Given the description of an element on the screen output the (x, y) to click on. 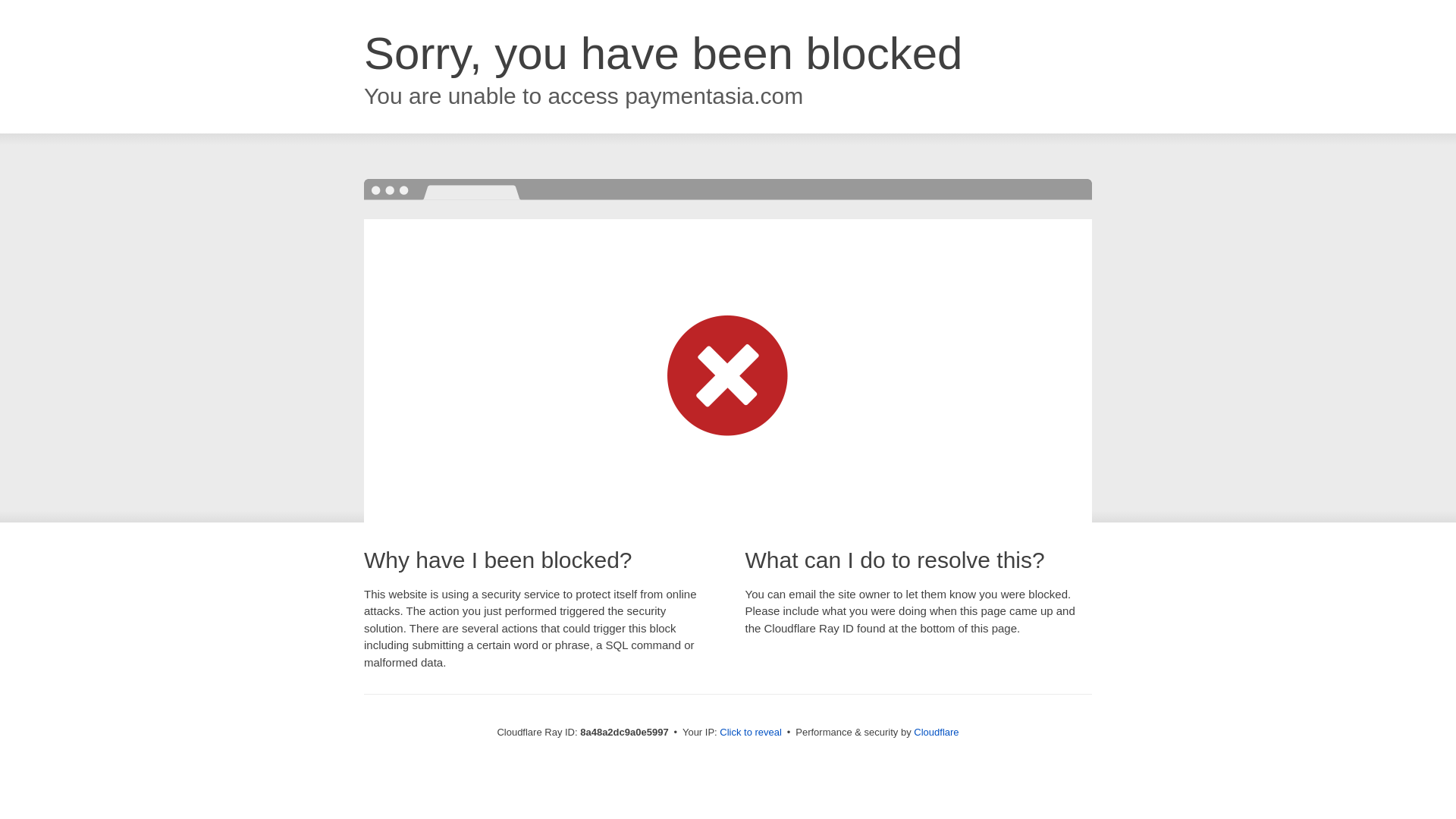
Click to reveal (750, 732)
Cloudflare (936, 731)
